Given the description of an element on the screen output the (x, y) to click on. 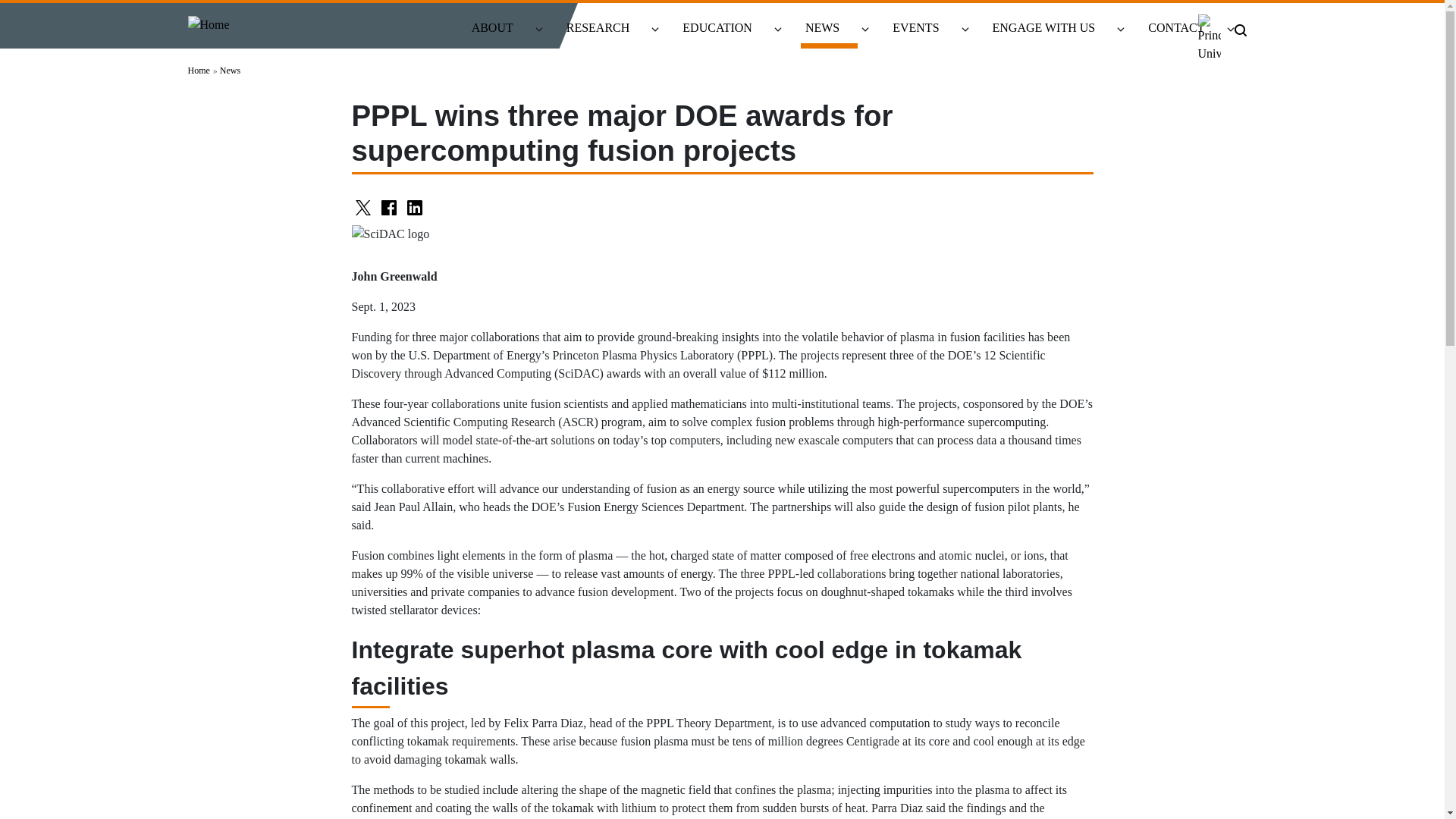
Home (208, 24)
EDUCATION (724, 28)
ABOUT (499, 28)
RESEARCH (604, 28)
